Given the description of an element on the screen output the (x, y) to click on. 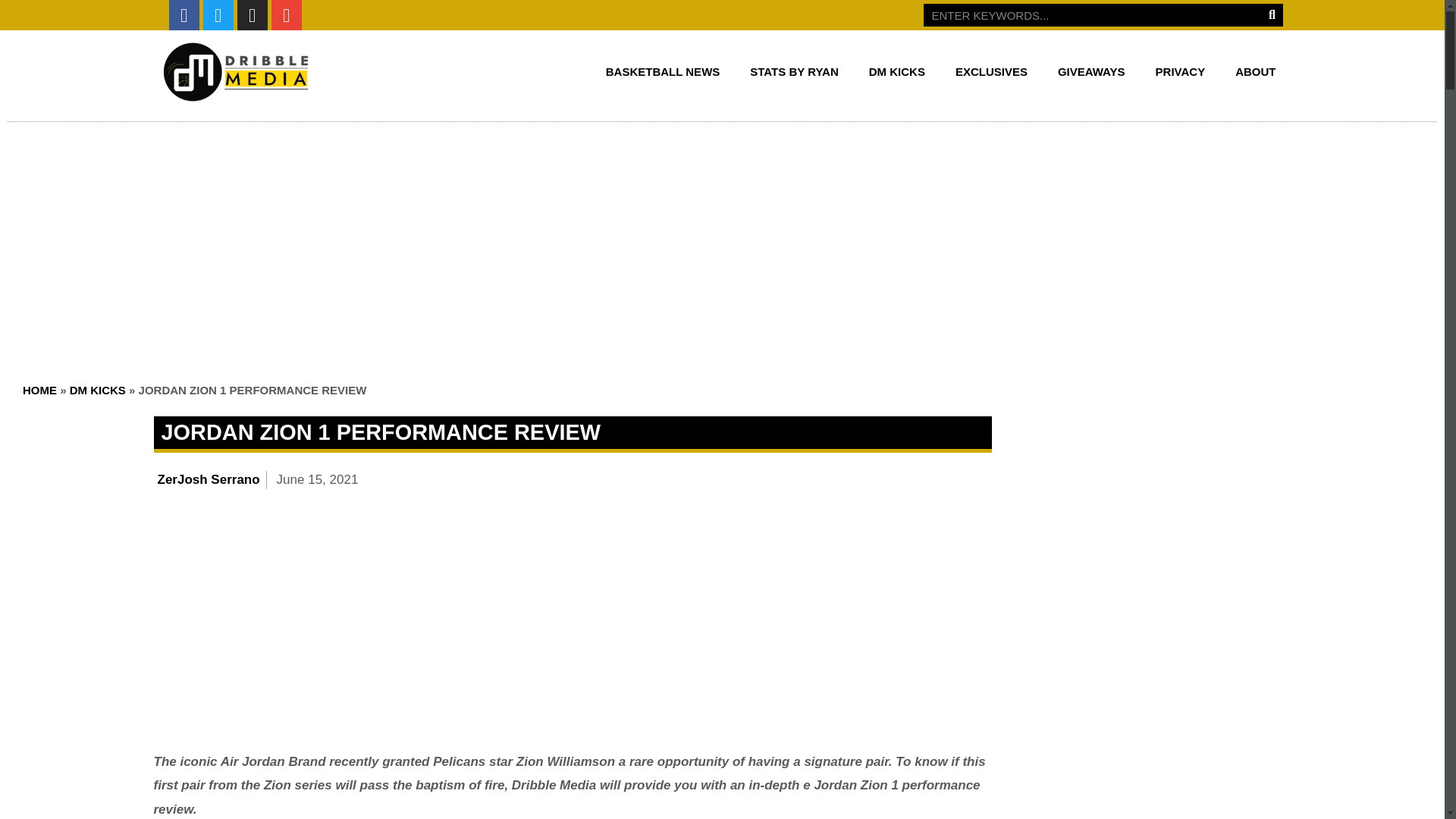
PRIVACY (1180, 71)
EXCLUSIVES (991, 71)
DM KICKS (896, 71)
STATS BY RYAN (794, 71)
ABOUT (1255, 71)
BASKETBALL NEWS (663, 71)
GIVEAWAYS (1091, 71)
